Given the description of an element on the screen output the (x, y) to click on. 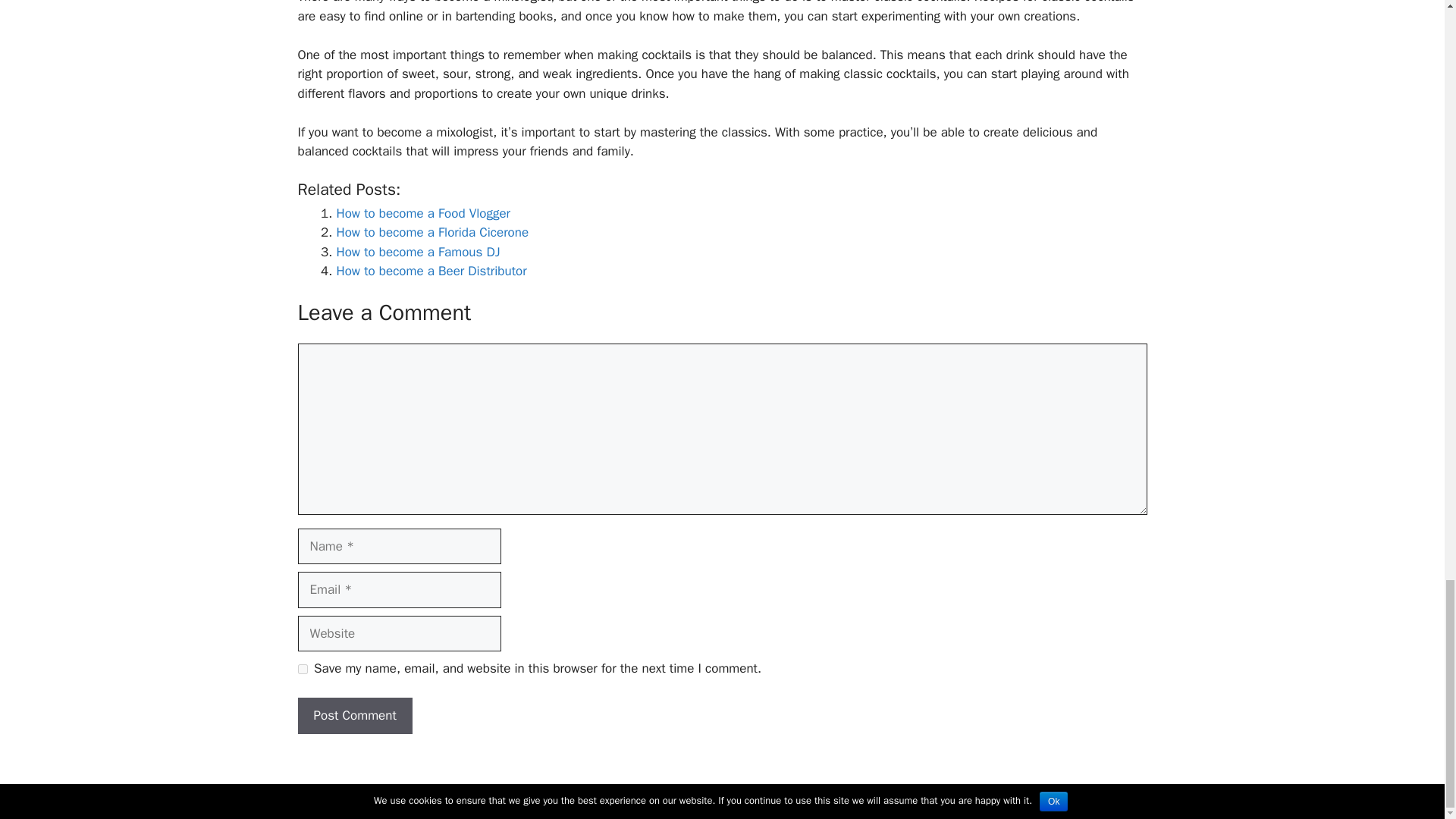
Legal notice (728, 795)
How to become a Beer Distributor (431, 270)
How to become a Florida Cicerone (432, 232)
Howbecome.net (645, 795)
How to become a Famous DJ (418, 252)
Post Comment (354, 715)
How to become a Food Vlogger (423, 213)
How to become a Food Vlogger (423, 213)
Contact (869, 795)
How to become a Florida Cicerone (432, 232)
How to become a Famous DJ (418, 252)
Post Comment (354, 715)
yes (302, 669)
Cookies policy (804, 795)
How to become a Beer Distributor (431, 270)
